Given the description of an element on the screen output the (x, y) to click on. 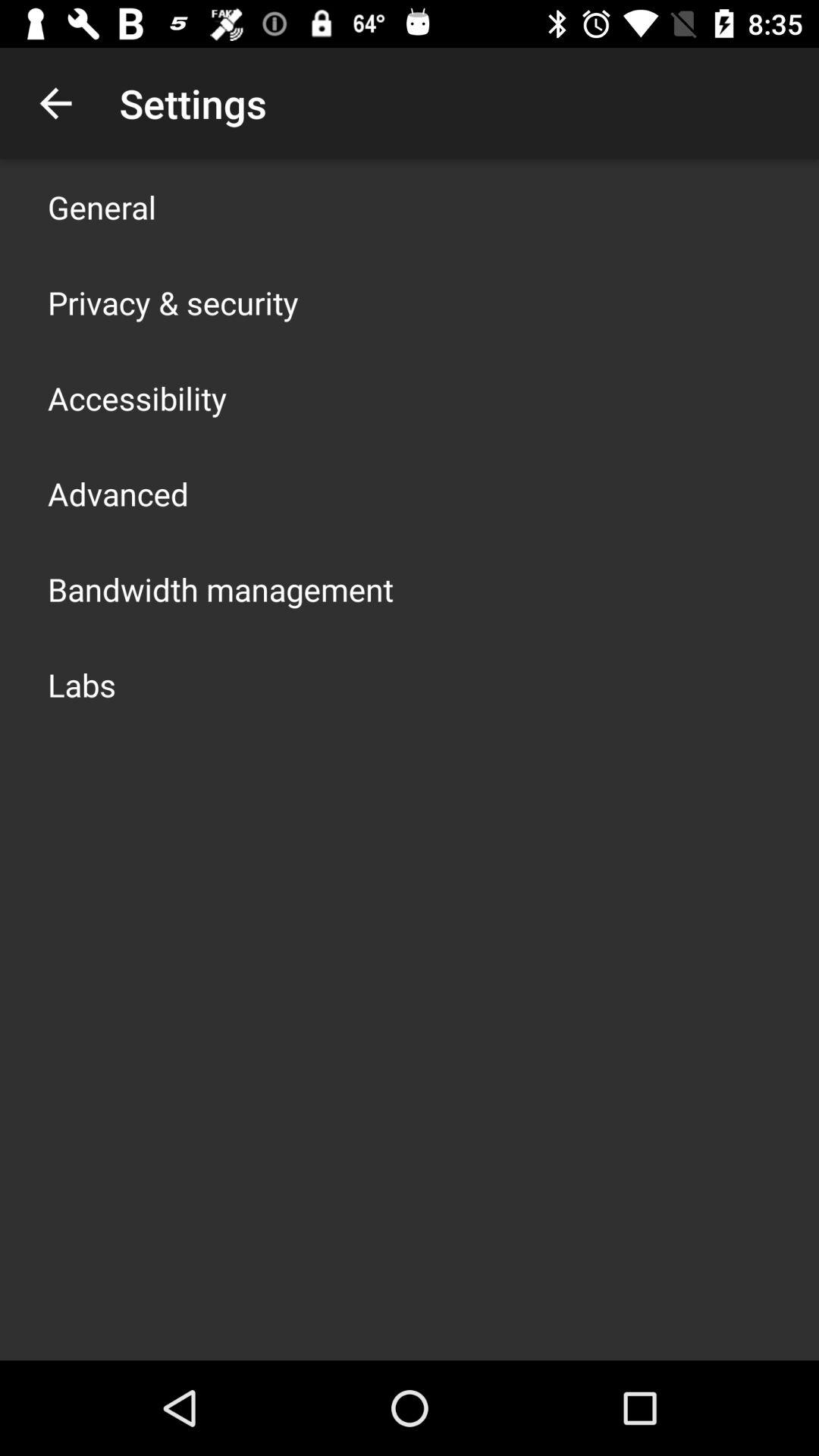
turn off icon below the advanced app (220, 588)
